Given the description of an element on the screen output the (x, y) to click on. 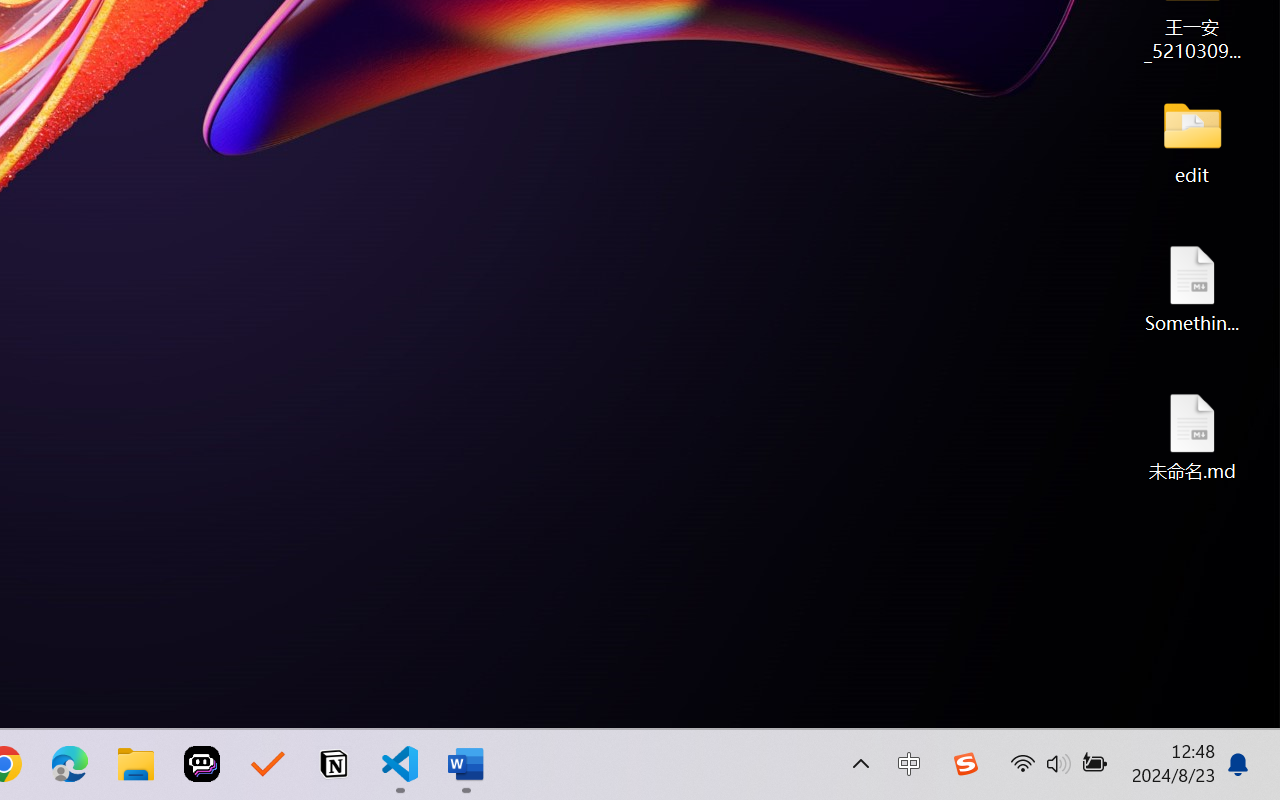
Microsoft Edge (69, 764)
Something.md (1192, 288)
